Given the description of an element on the screen output the (x, y) to click on. 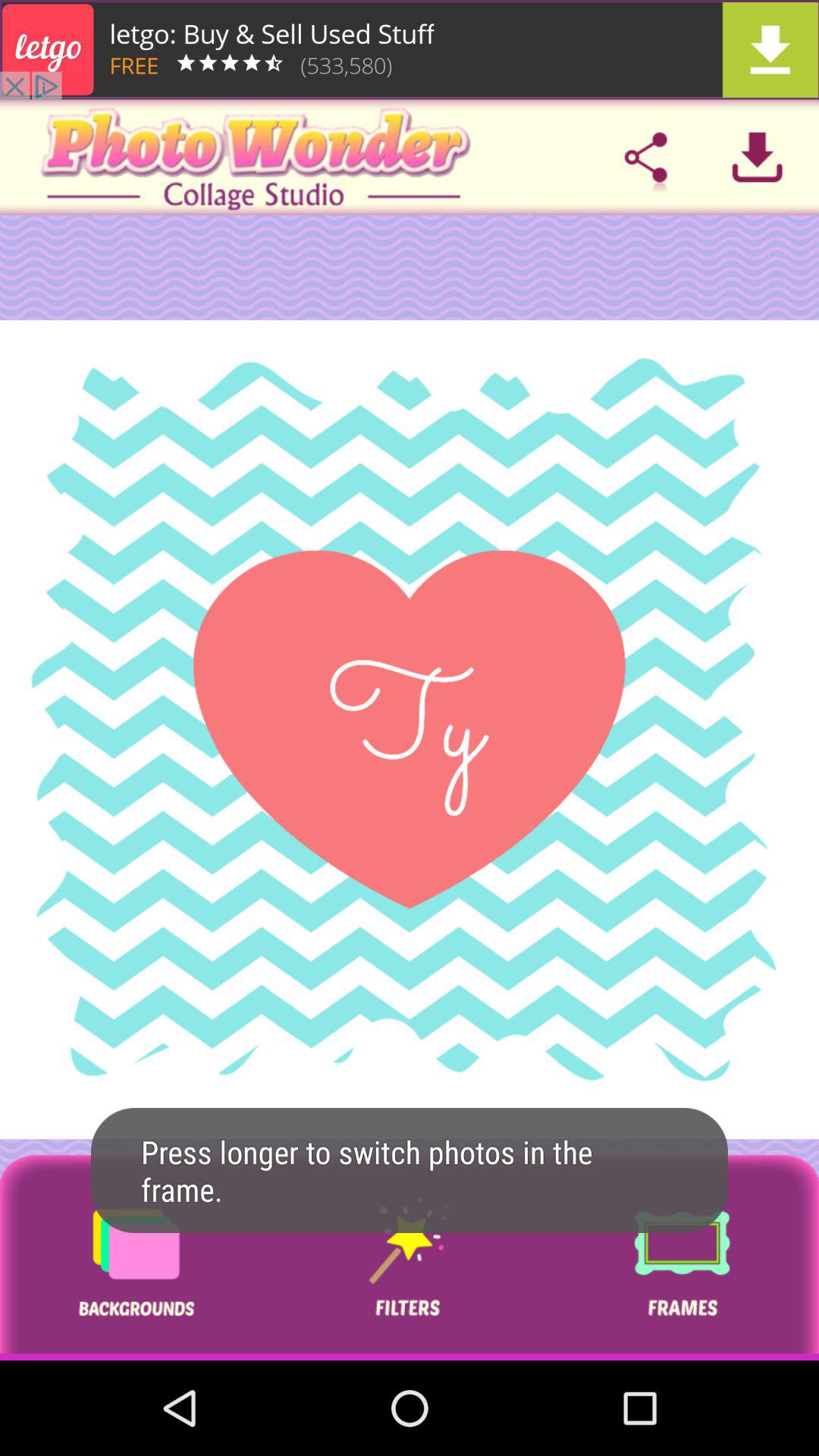
download app (409, 49)
